Given the description of an element on the screen output the (x, y) to click on. 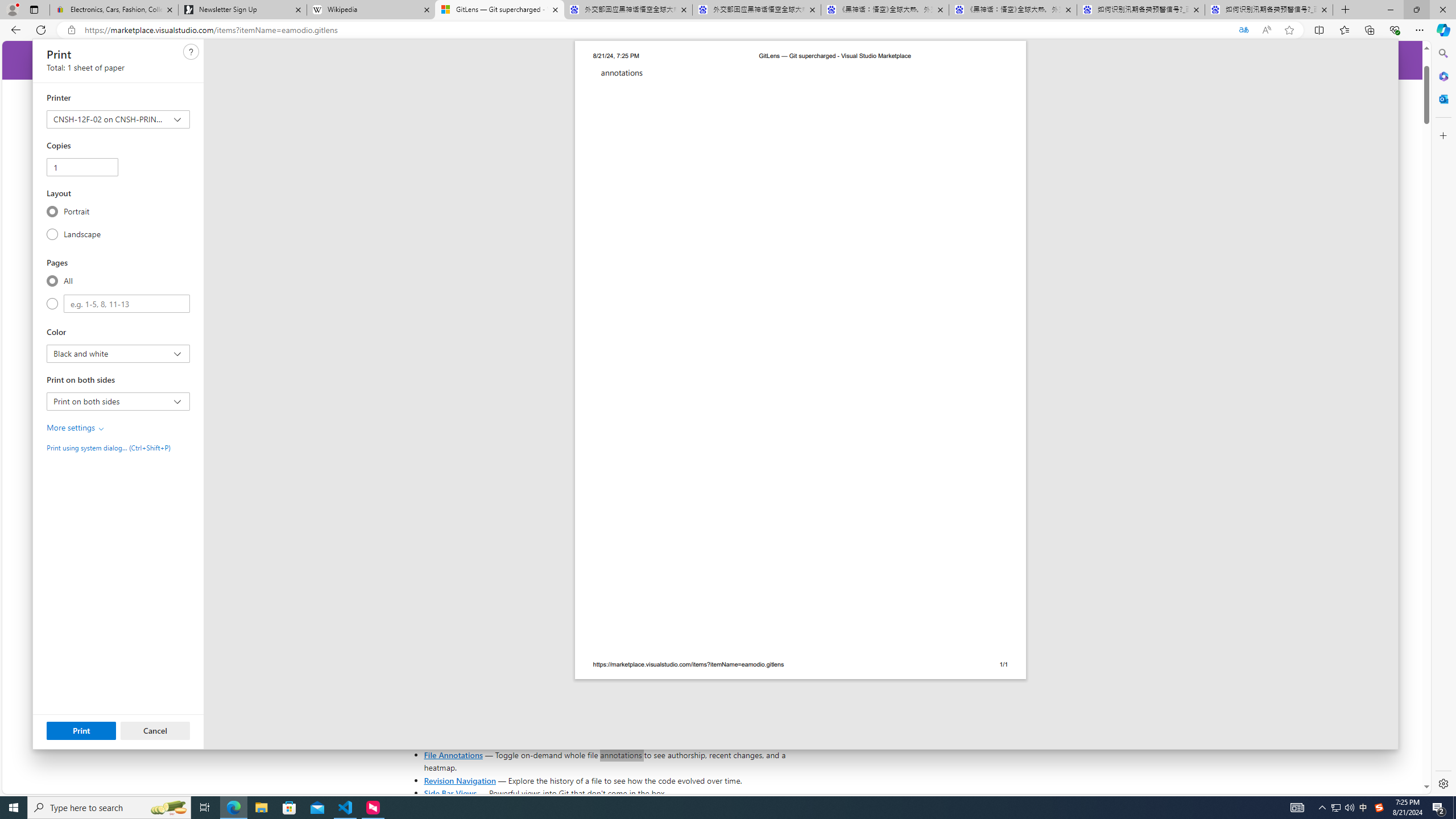
Custom (126, 303)
Need help (191, 51)
